Given the description of an element on the screen output the (x, y) to click on. 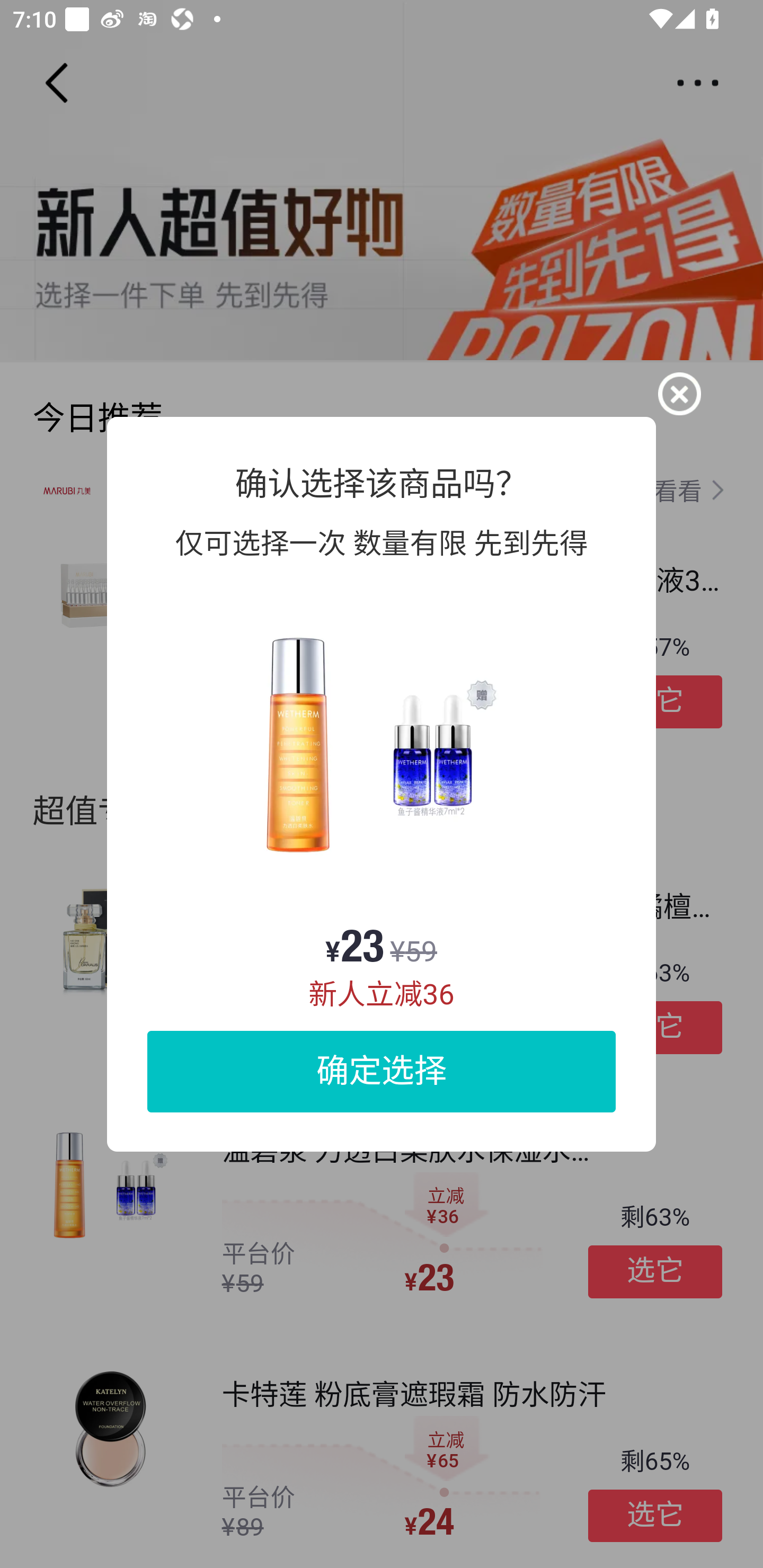
确定选择 (381, 1070)
